Given the description of an element on the screen output the (x, y) to click on. 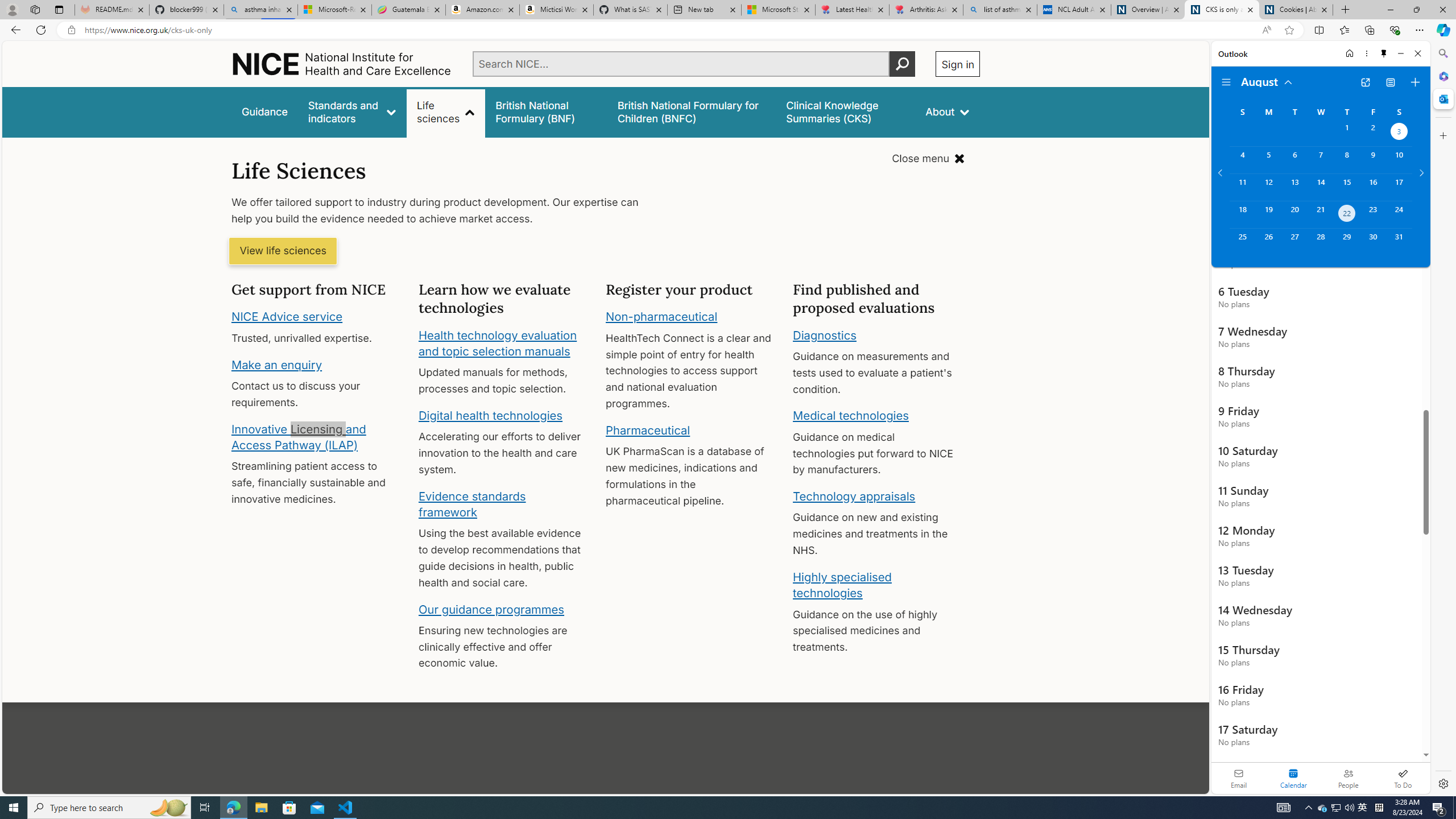
Guidance (264, 111)
Highly specialised technologies (842, 584)
Wednesday, August 28, 2024.  (1320, 241)
Innovative Licensing and Access Pathway (ILAP) (298, 436)
NCL Adult Asthma Inhaler Choice Guideline (1073, 9)
Selected calendar module. Date today is 22 (1293, 777)
Monday, August 26, 2024.  (1268, 241)
Thursday, August 8, 2024.  (1346, 159)
Digital health technologies (490, 414)
Evidence standards framework (471, 503)
Friday, August 2, 2024.  (1372, 132)
